Given the description of an element on the screen output the (x, y) to click on. 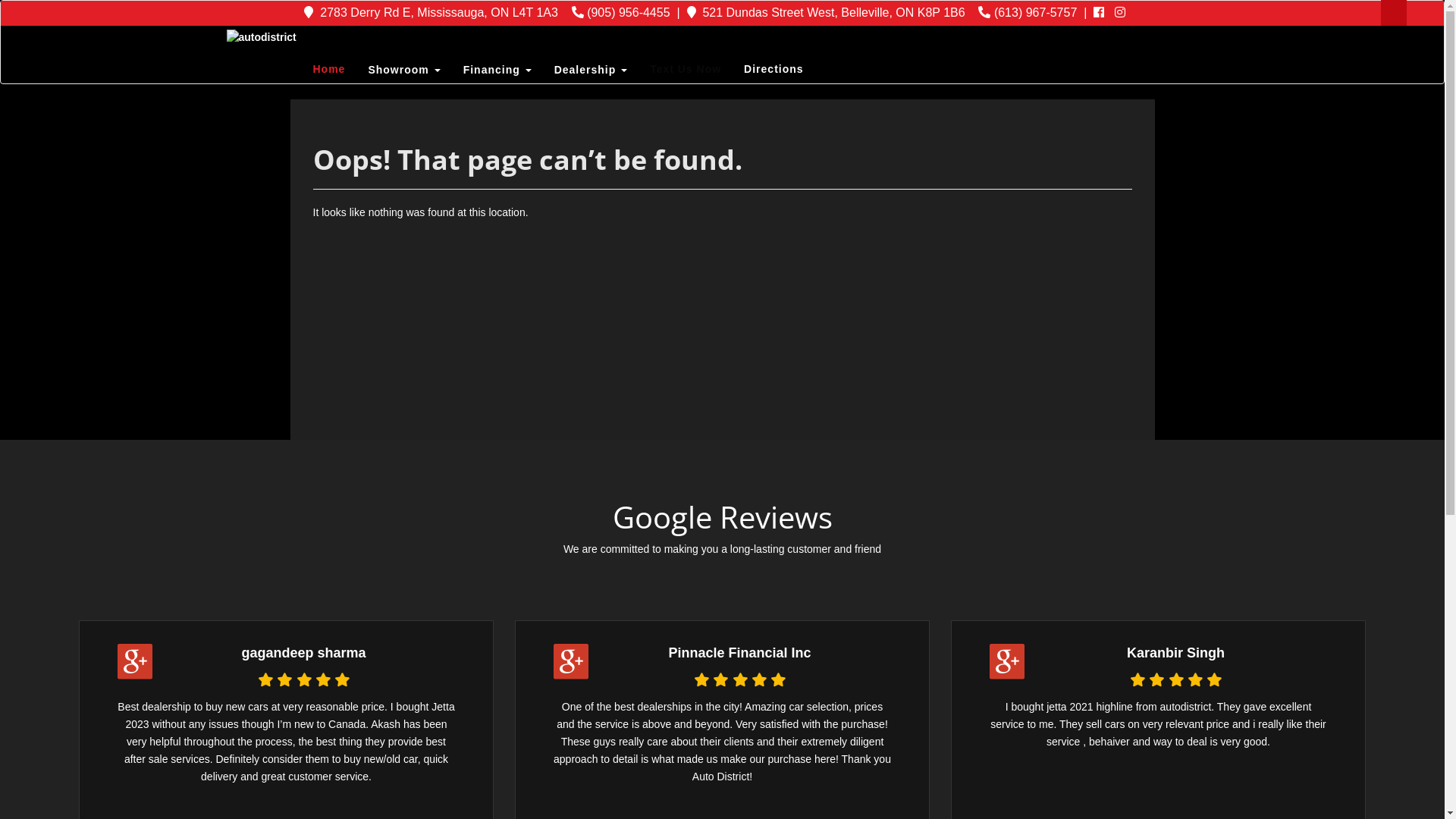
 (905) 956-4455 Element type: text (620, 12)
 (613) 967-5757 Element type: text (1027, 12)
Dealership Element type: text (590, 70)
Directions Element type: text (773, 68)
Google Plus Element type: hover (134, 661)
Home Element type: text (329, 68)
Showroom Element type: text (403, 70)
Google Plus Element type: hover (570, 661)
Financing Element type: text (496, 70)
Google Plus Element type: hover (1006, 661)
Text Us Now Element type: text (685, 68)
